Given the description of an element on the screen output the (x, y) to click on. 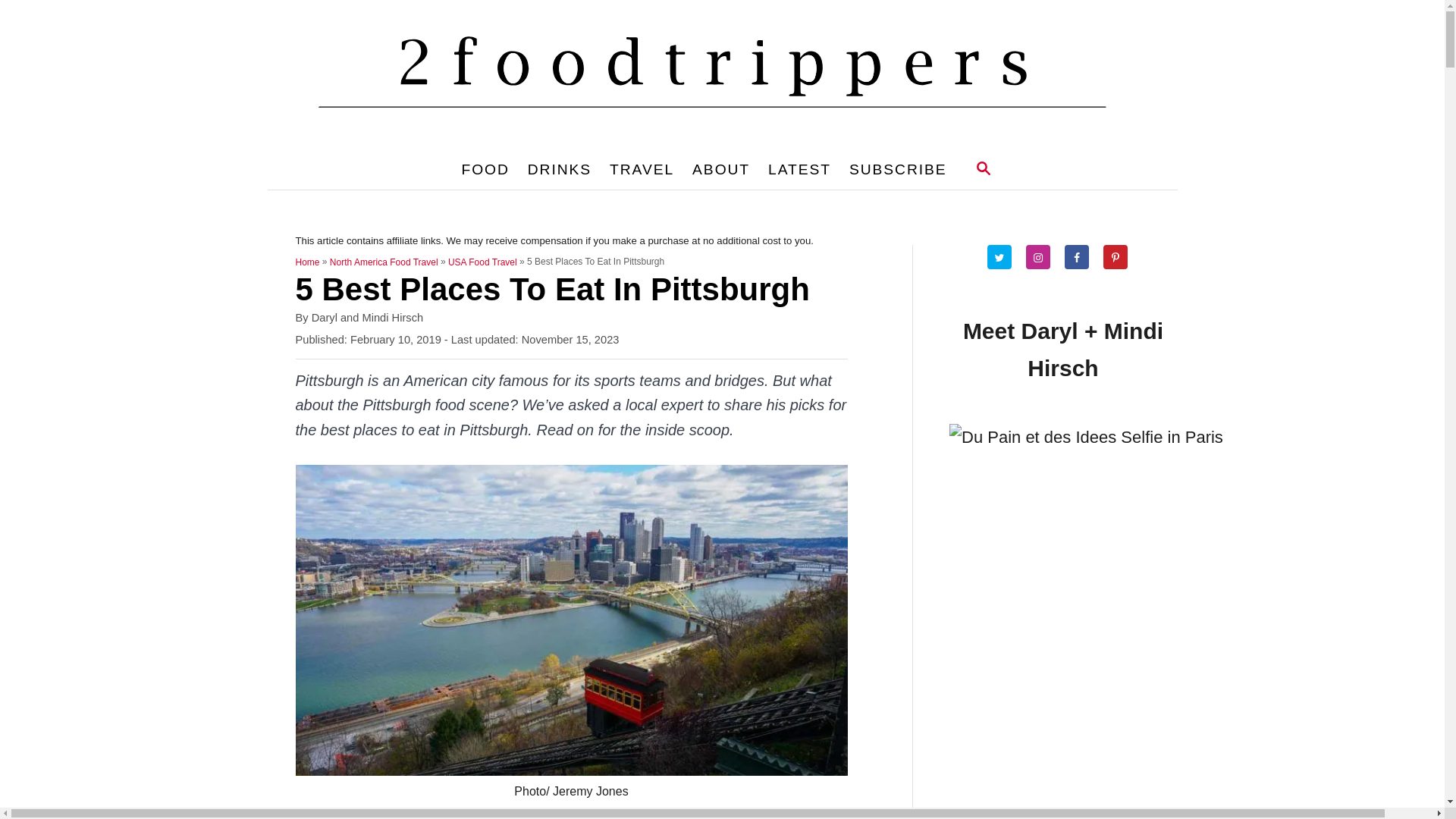
Follow on Twitter Element type: hover (1004, 256)
ABOUT Element type: text (721, 169)
Home Element type: text (307, 262)
SEARCH
MAGNIFYING GLASS Element type: text (983, 169)
Follow on Pinterest Element type: hover (1121, 256)
DRINKS Element type: text (559, 169)
USA Food Travel Element type: text (482, 262)
North America Food Travel Element type: text (383, 262)
Follow on Instagram Element type: hover (1043, 256)
FOOD Element type: text (484, 169)
LATEST Element type: text (799, 169)
2foodtrippers Element type: hover (721, 75)
SUBSCRIBE Element type: text (898, 169)
TRAVEL Element type: text (641, 169)
Follow on Facebook Element type: hover (1082, 256)
Daryl and Mindi Hirsch Element type: text (367, 317)
